Given the description of an element on the screen output the (x, y) to click on. 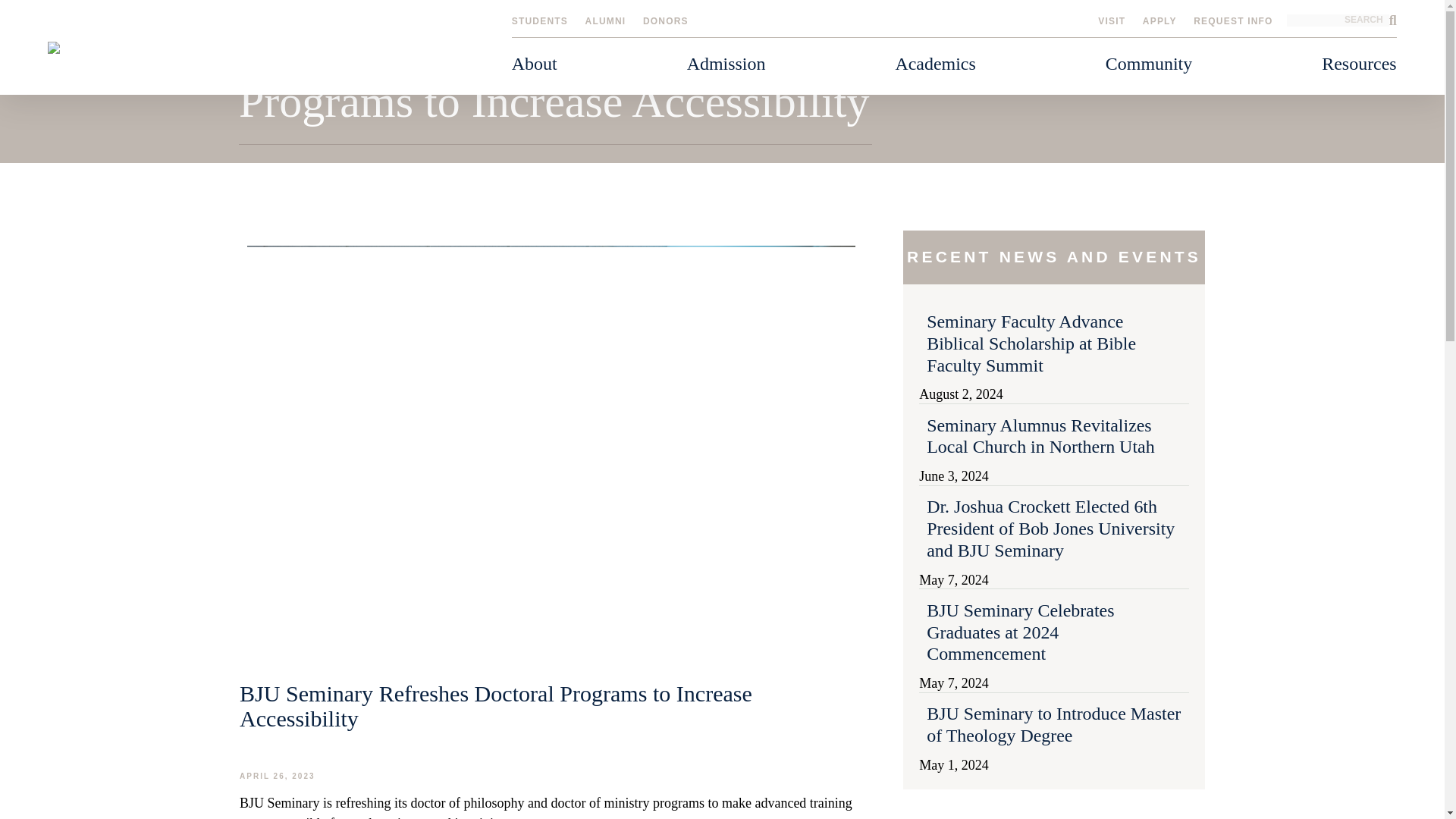
Academics (934, 66)
STUDENTS (539, 20)
Community (1148, 66)
About (533, 66)
ALUMNI (605, 20)
Resources (1358, 66)
DONORS (665, 20)
APPLY (1159, 20)
VISIT (1111, 20)
Admission (726, 66)
